Given the description of an element on the screen output the (x, y) to click on. 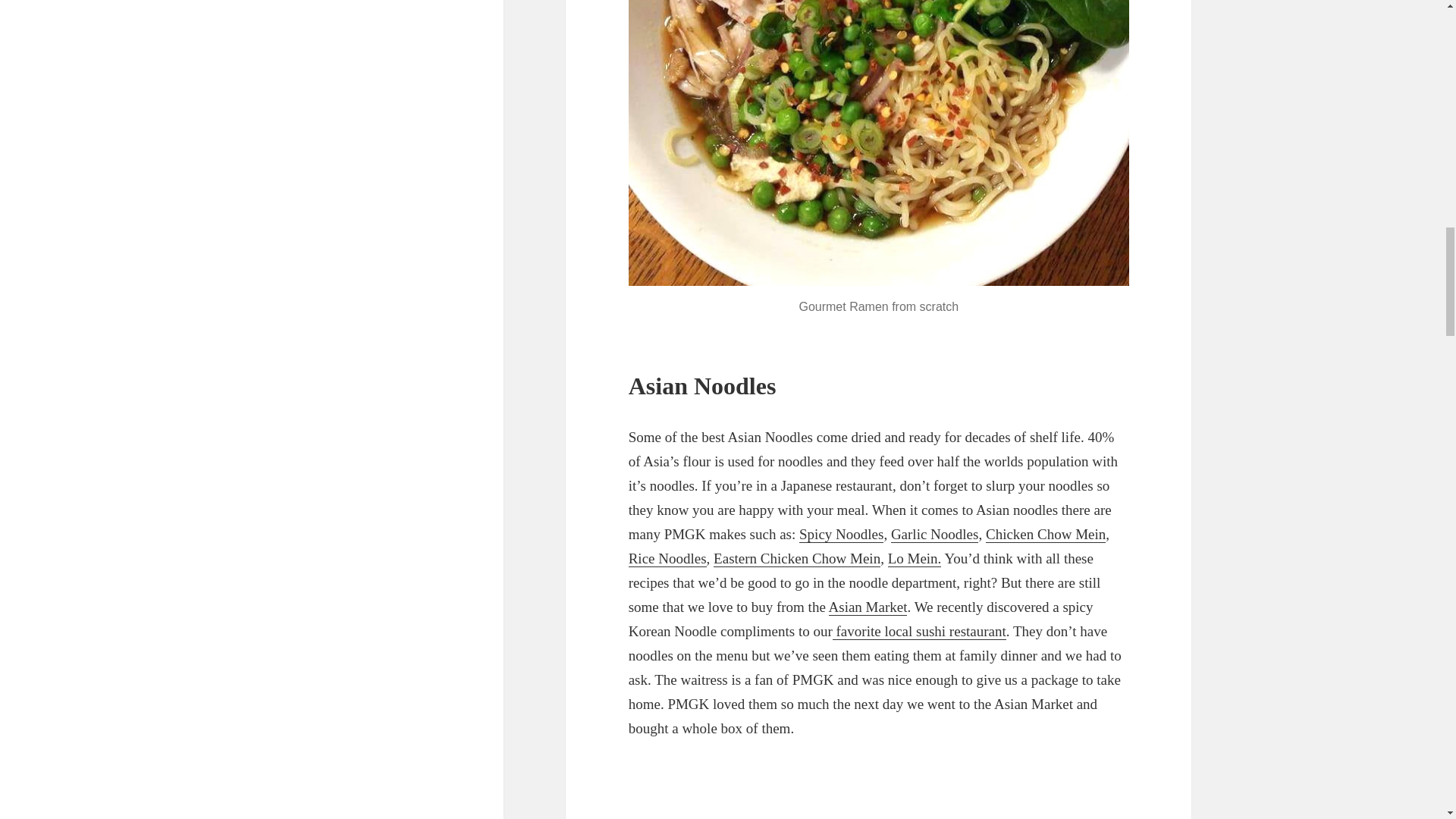
Spicy Noodles (841, 534)
Lo Mein. (915, 558)
Chicken Chow Mein (1045, 534)
favorite local sushi restaurant (919, 631)
Rice Noodles (667, 558)
Eastern Chicken Chow Mein (796, 558)
Asian Market (867, 606)
Garlic Noodles (934, 534)
